Given the description of an element on the screen output the (x, y) to click on. 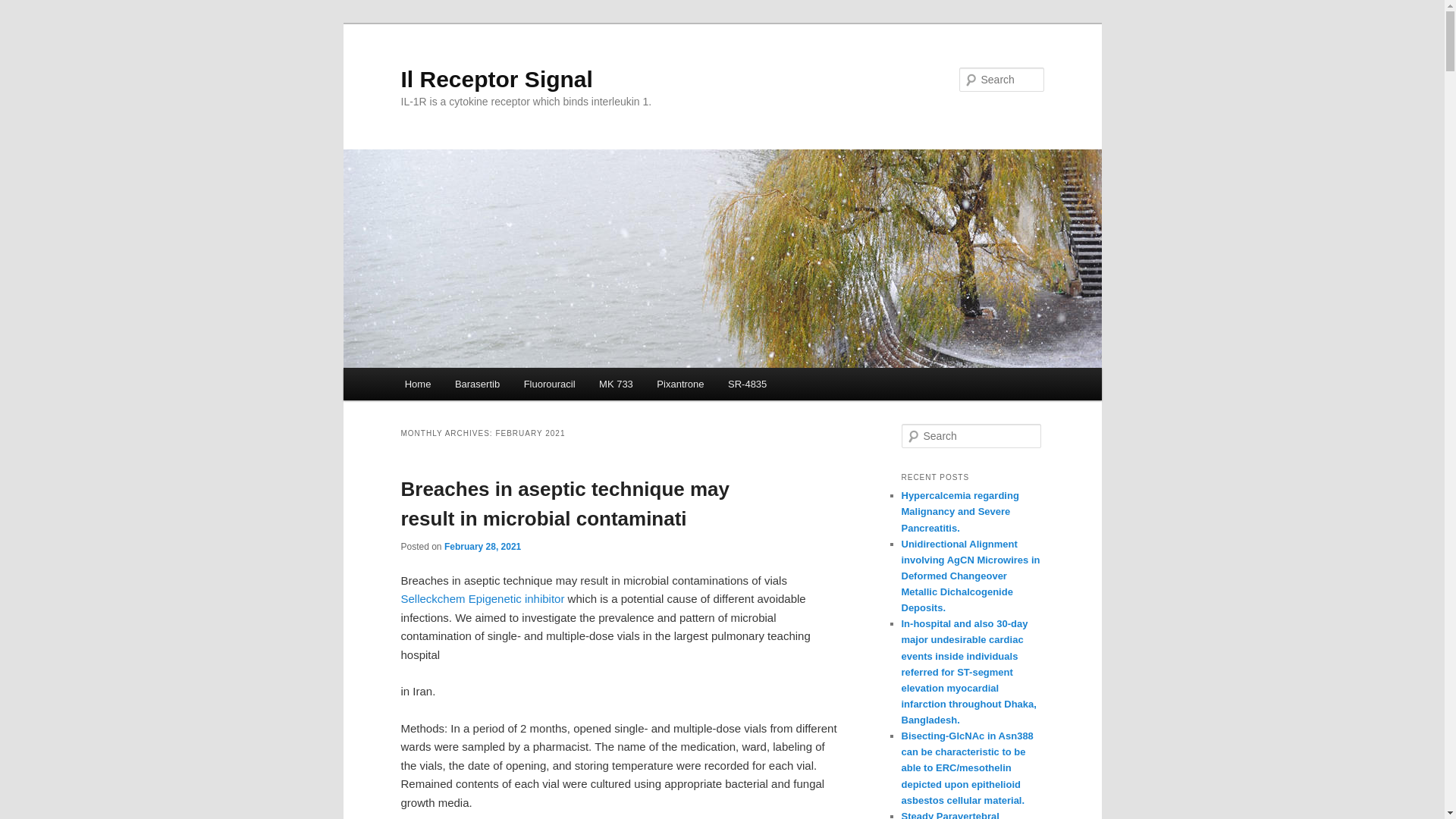
Skip to secondary content (479, 386)
Il Receptor Signal (496, 78)
Fluorouracil (549, 383)
Barasertib (477, 383)
February 28, 2021 (482, 546)
Skip to primary content (472, 386)
Selleckchem Epigenetic inhibitor (482, 598)
Pixantrone (680, 383)
Il Receptor Signal (496, 78)
Home (417, 383)
Home (417, 383)
6:48 am (482, 546)
MK 733 (615, 383)
